Given the description of an element on the screen output the (x, y) to click on. 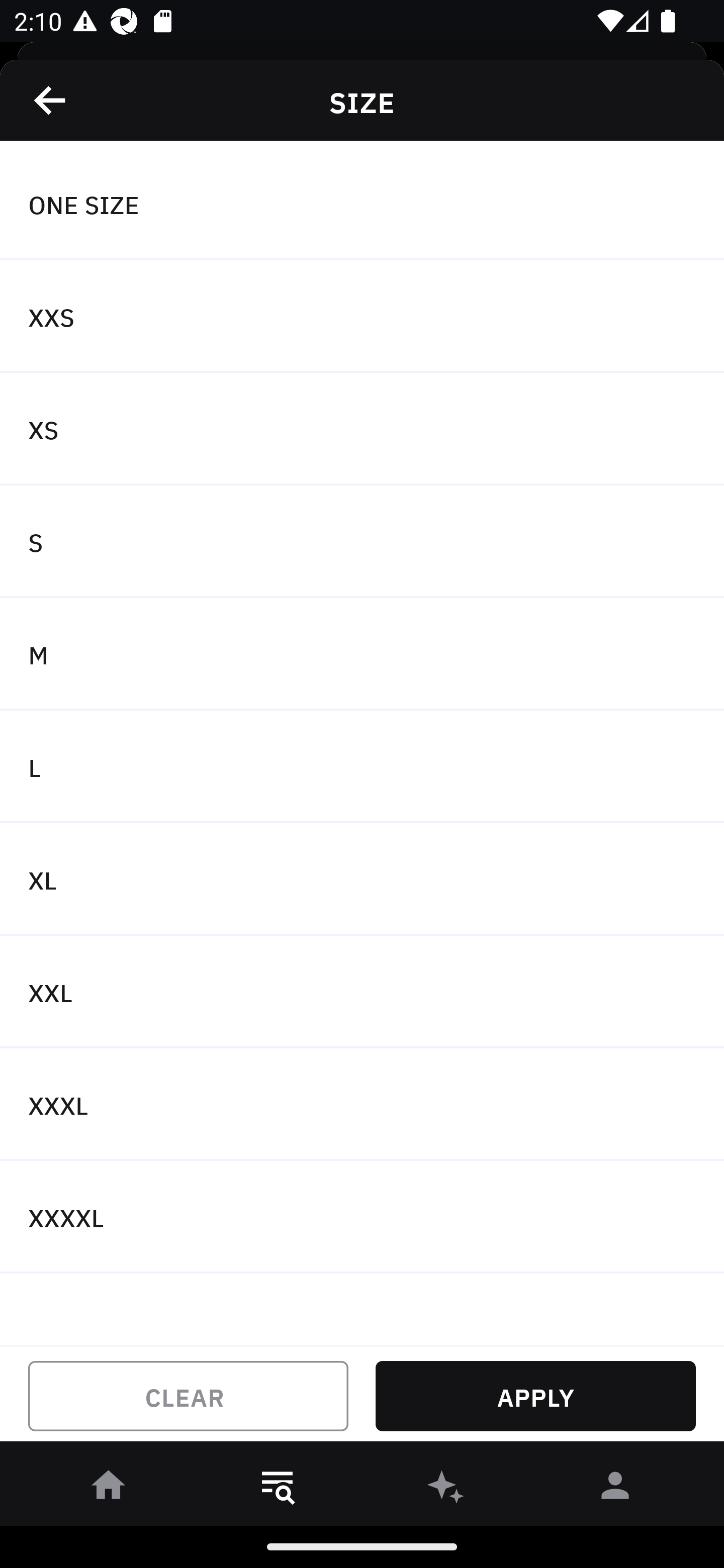
 (50, 100)
ONE SIZE (362, 203)
XXS (362, 316)
XS (362, 429)
S (362, 541)
M (362, 653)
L (362, 766)
XL (362, 879)
XXL (362, 992)
XXXL (362, 1104)
XXXXL (362, 1216)
CLEAR  (188, 1396)
APPLY (535, 1396)
󰋜 (108, 1488)
󱎸 (277, 1488)
󰫢 (446, 1488)
󰀄 (615, 1488)
